Given the description of an element on the screen output the (x, y) to click on. 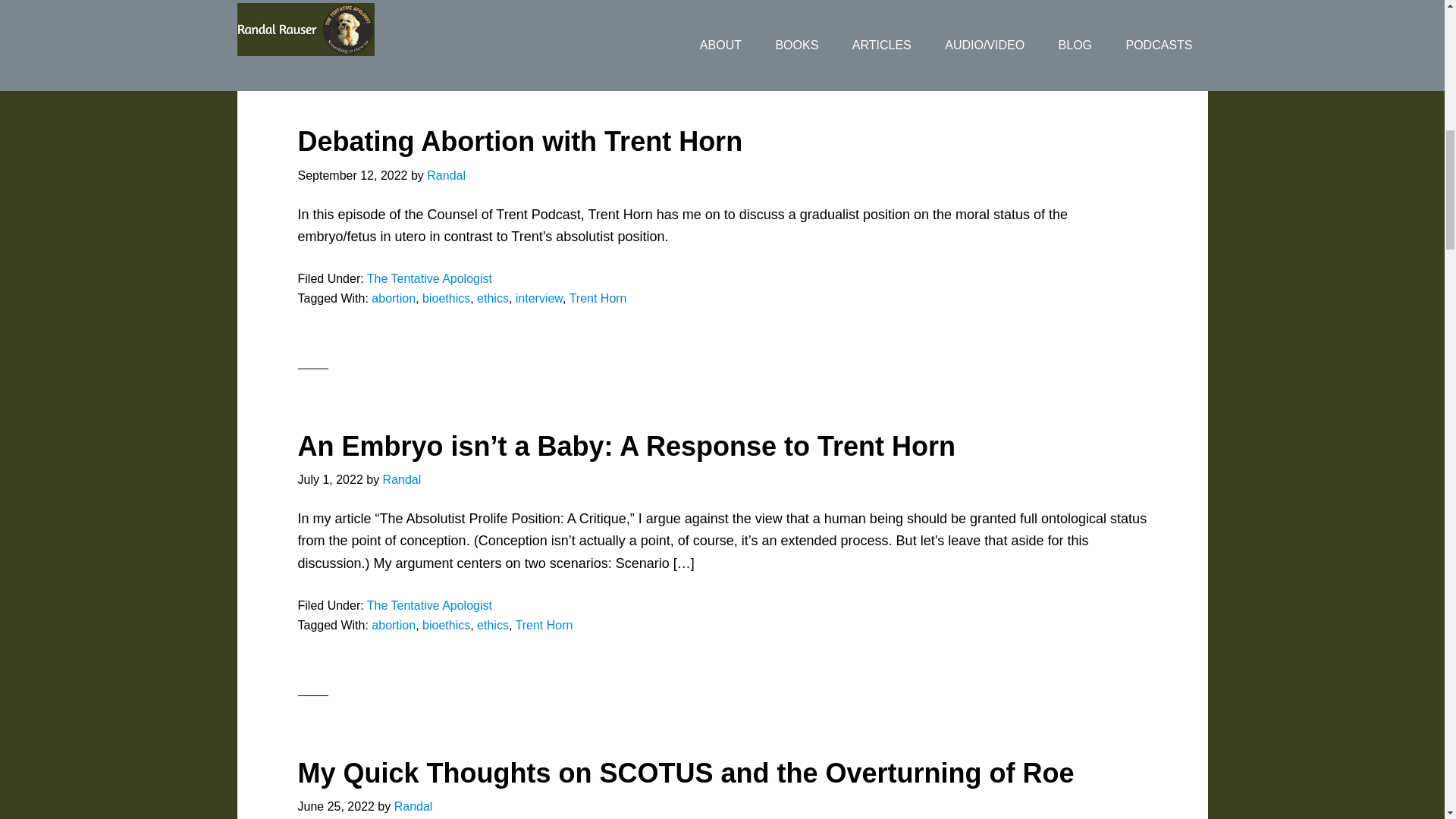
interview (538, 297)
Debating Abortion with Trent Horn (519, 141)
ethics (492, 297)
Randal (445, 174)
bioethics (446, 297)
abortion (392, 297)
The Tentative Apologist (429, 278)
